Given the description of an element on the screen output the (x, y) to click on. 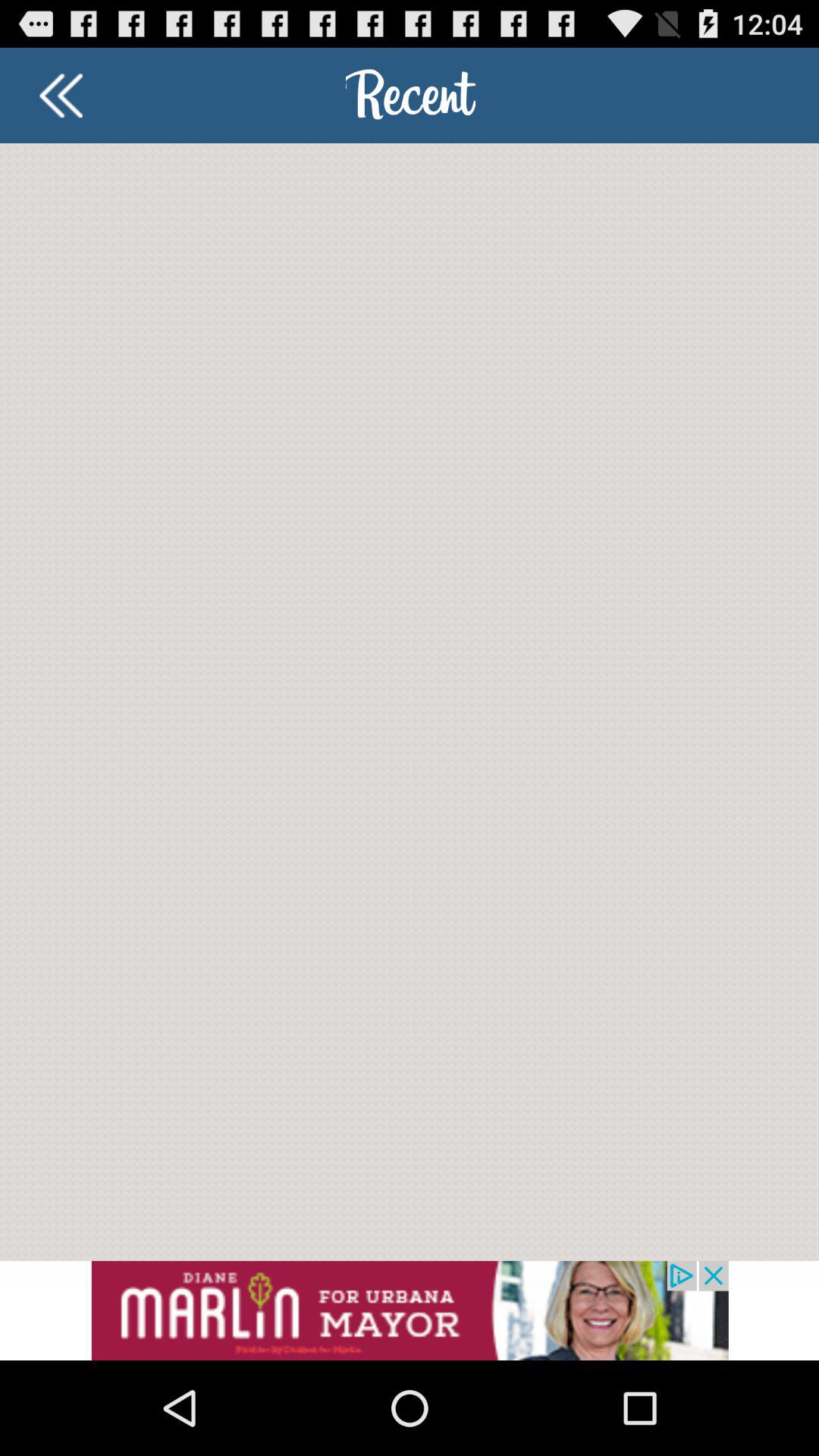
click to go back (61, 95)
